Given the description of an element on the screen output the (x, y) to click on. 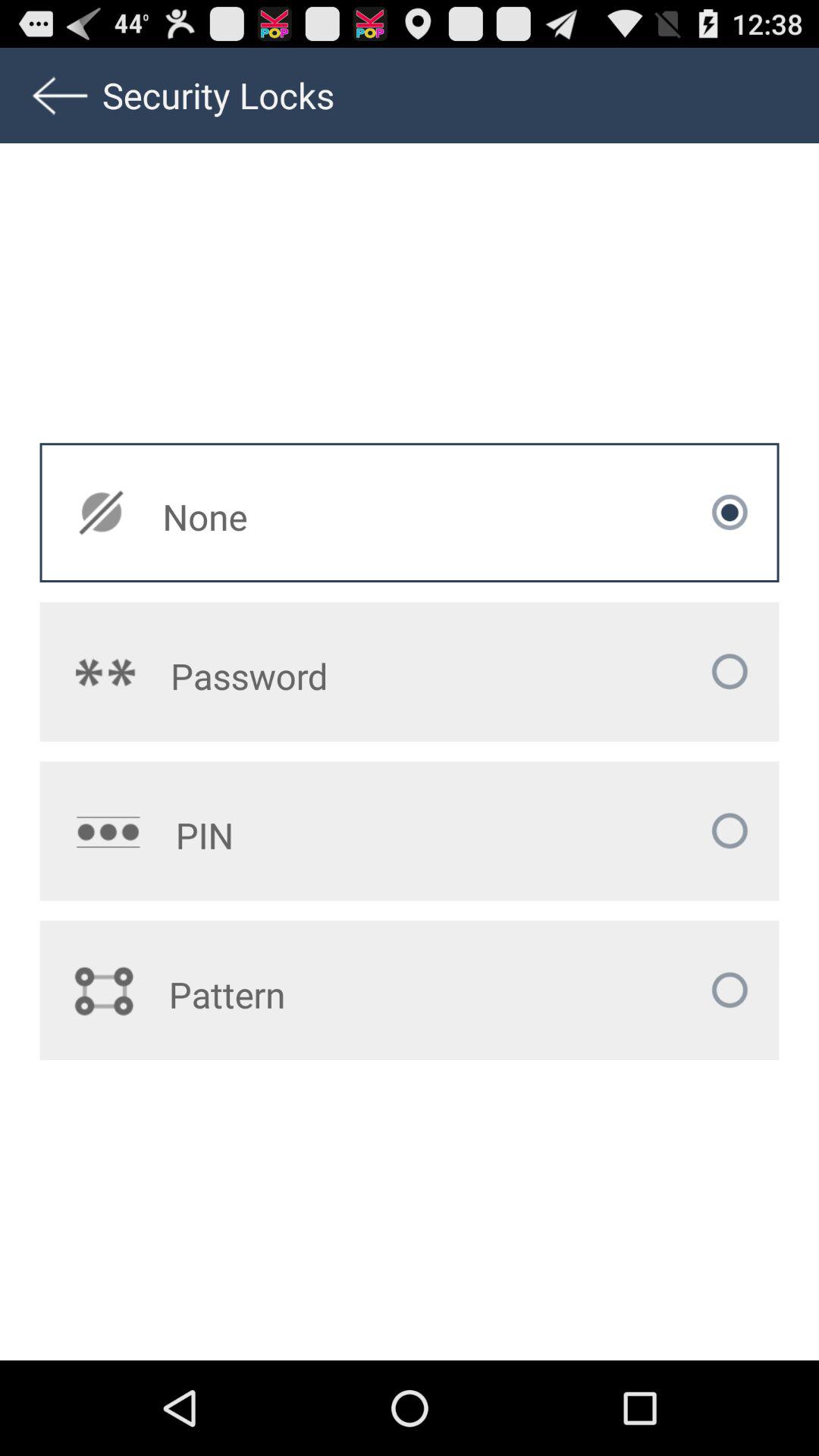
turn on app below the pin app (317, 994)
